Given the description of an element on the screen output the (x, y) to click on. 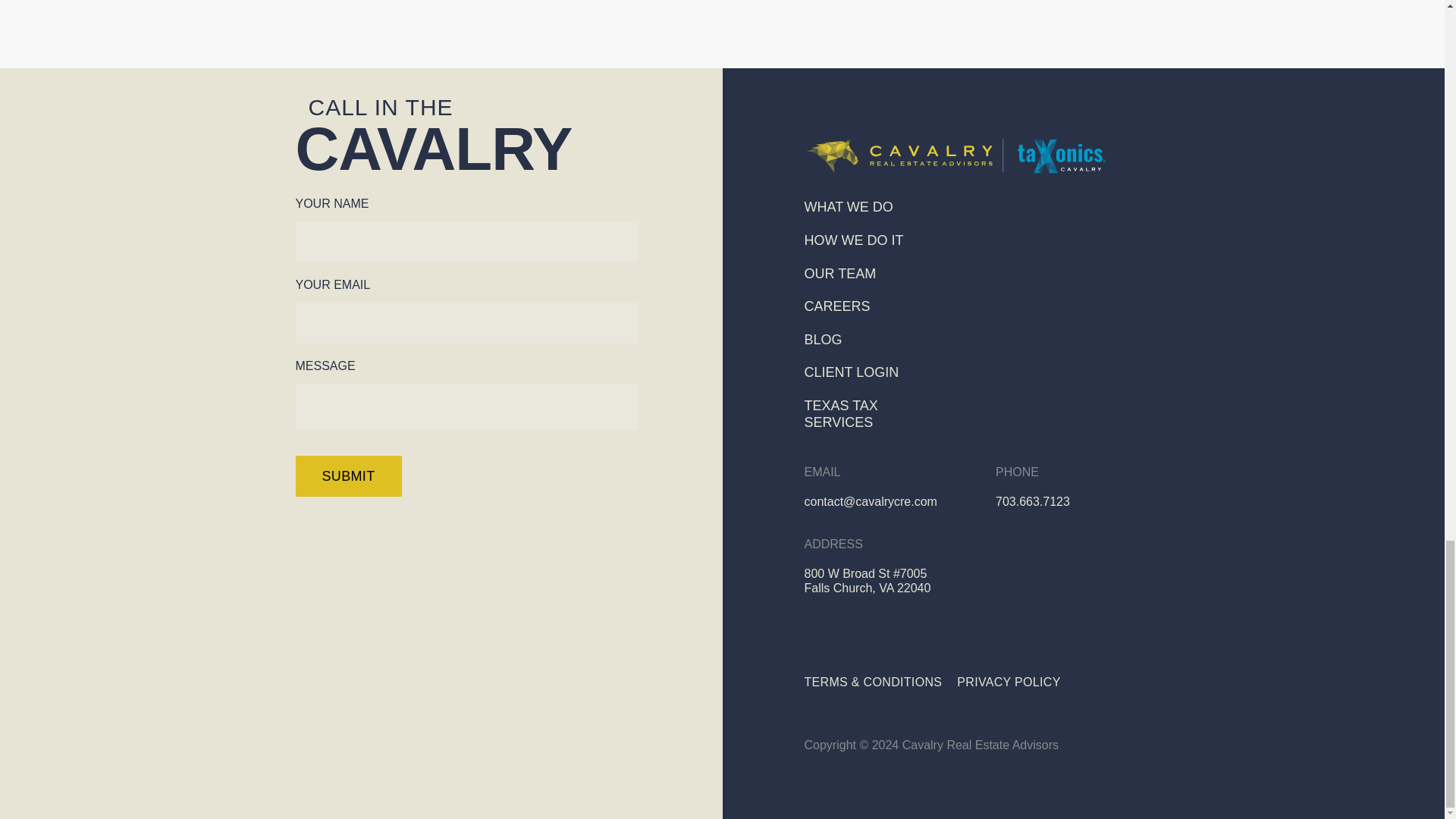
WHAT WE DO (847, 206)
OUR TEAM (839, 273)
HOW WE DO IT (852, 240)
CLIENT LOGIN (850, 372)
SUBMIT (348, 475)
BLOG (822, 339)
TEXAS TAX SERVICES (840, 413)
PRIVACY POLICY (1007, 681)
703.663.7123 (1032, 501)
CAREERS (836, 305)
